Given the description of an element on the screen output the (x, y) to click on. 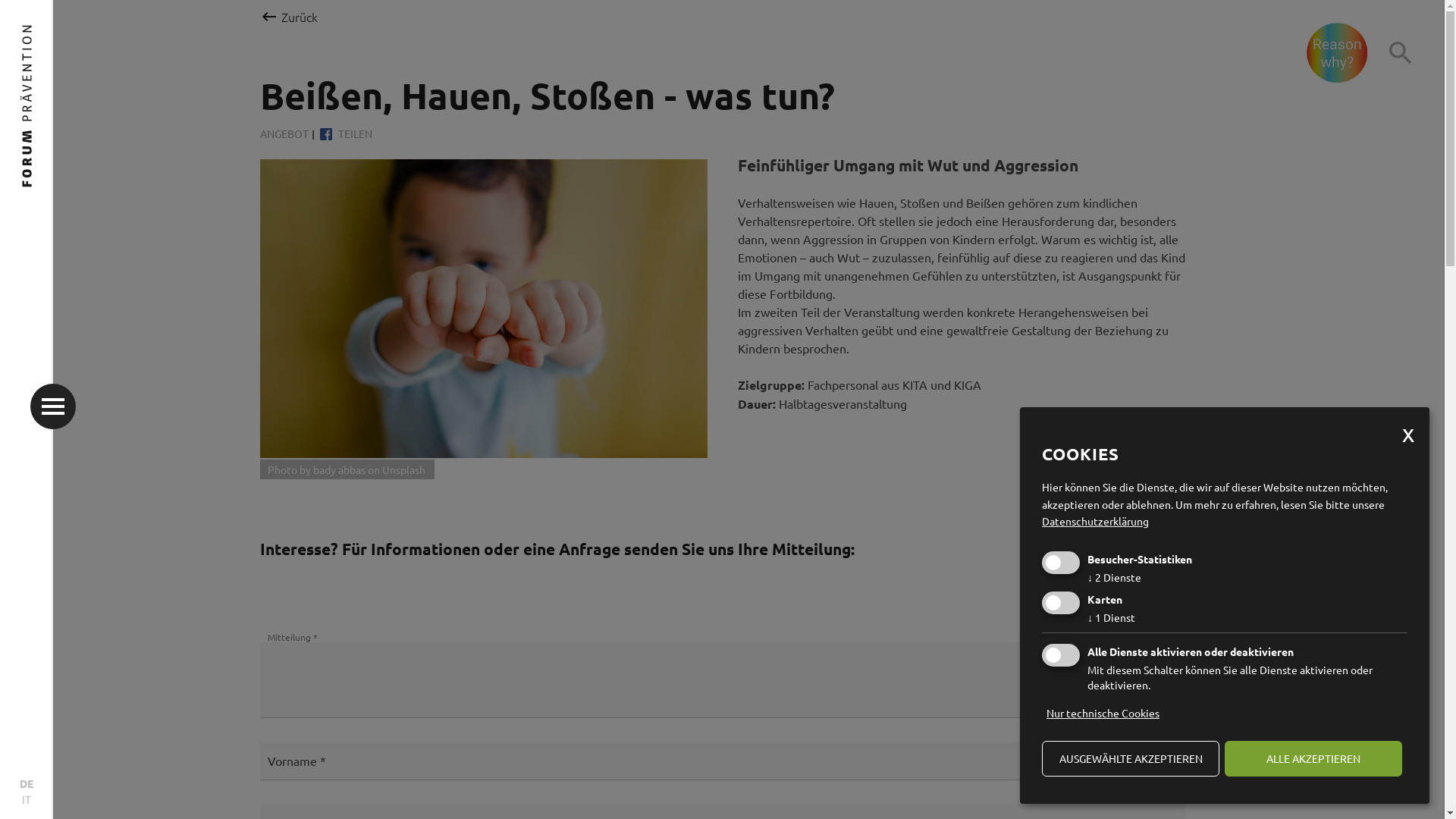
ALLE AKZEPTIEREN Element type: text (1313, 758)
Nur technische Cookies Element type: text (1102, 712)
IT Element type: text (26, 799)
DE Element type: text (26, 783)
Photo by bady abbas on Unsplash Element type: hover (482, 308)
TEILEN Element type: text (346, 133)
